Given the description of an element on the screen output the (x, y) to click on. 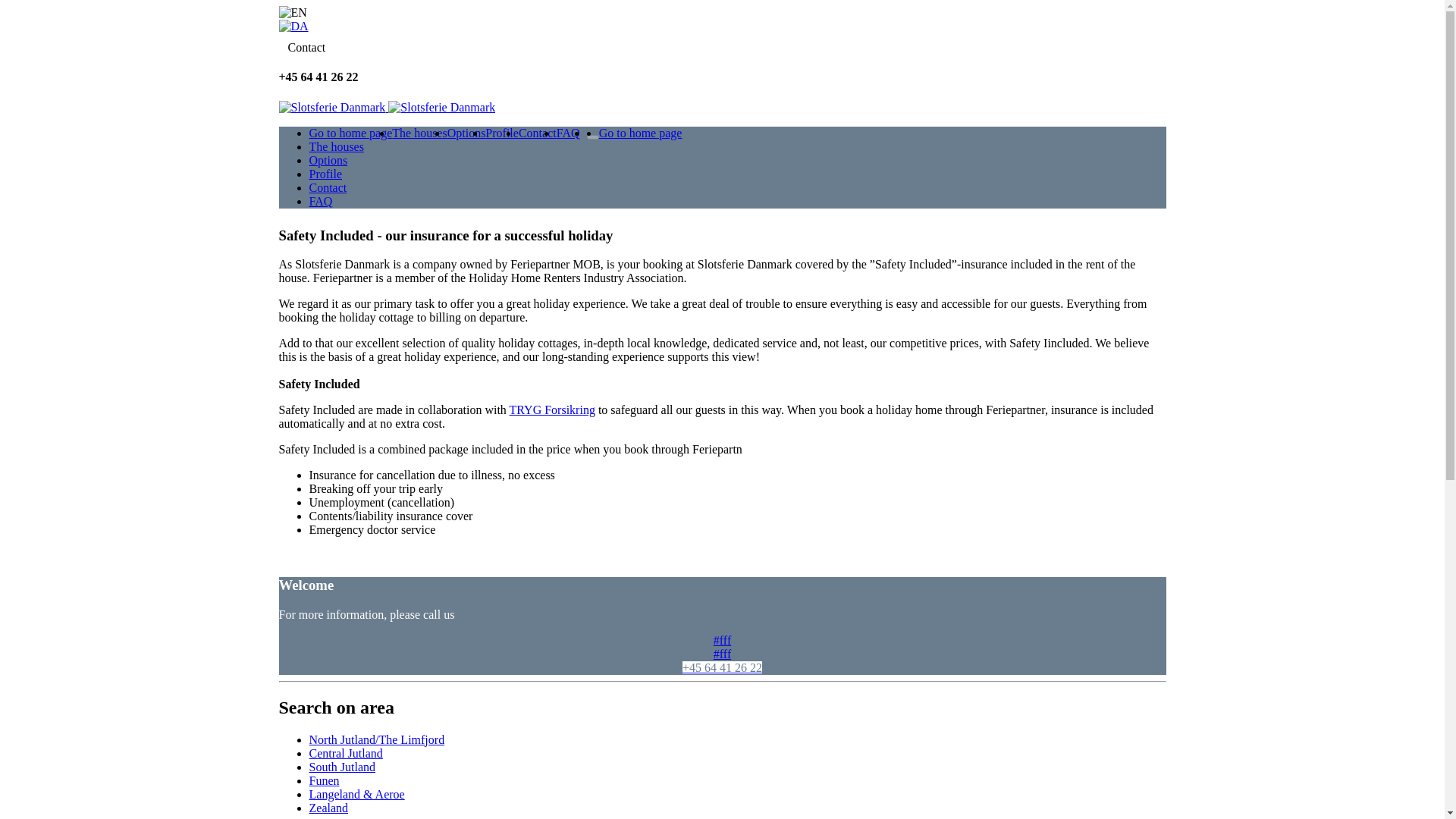
Zealand (328, 807)
Funen (323, 779)
South Jutland (341, 766)
DA (293, 26)
The houses (418, 132)
FAQ (567, 132)
EN (293, 12)
Profile (501, 132)
Go to home page (350, 132)
Options (466, 132)
